Given the description of an element on the screen output the (x, y) to click on. 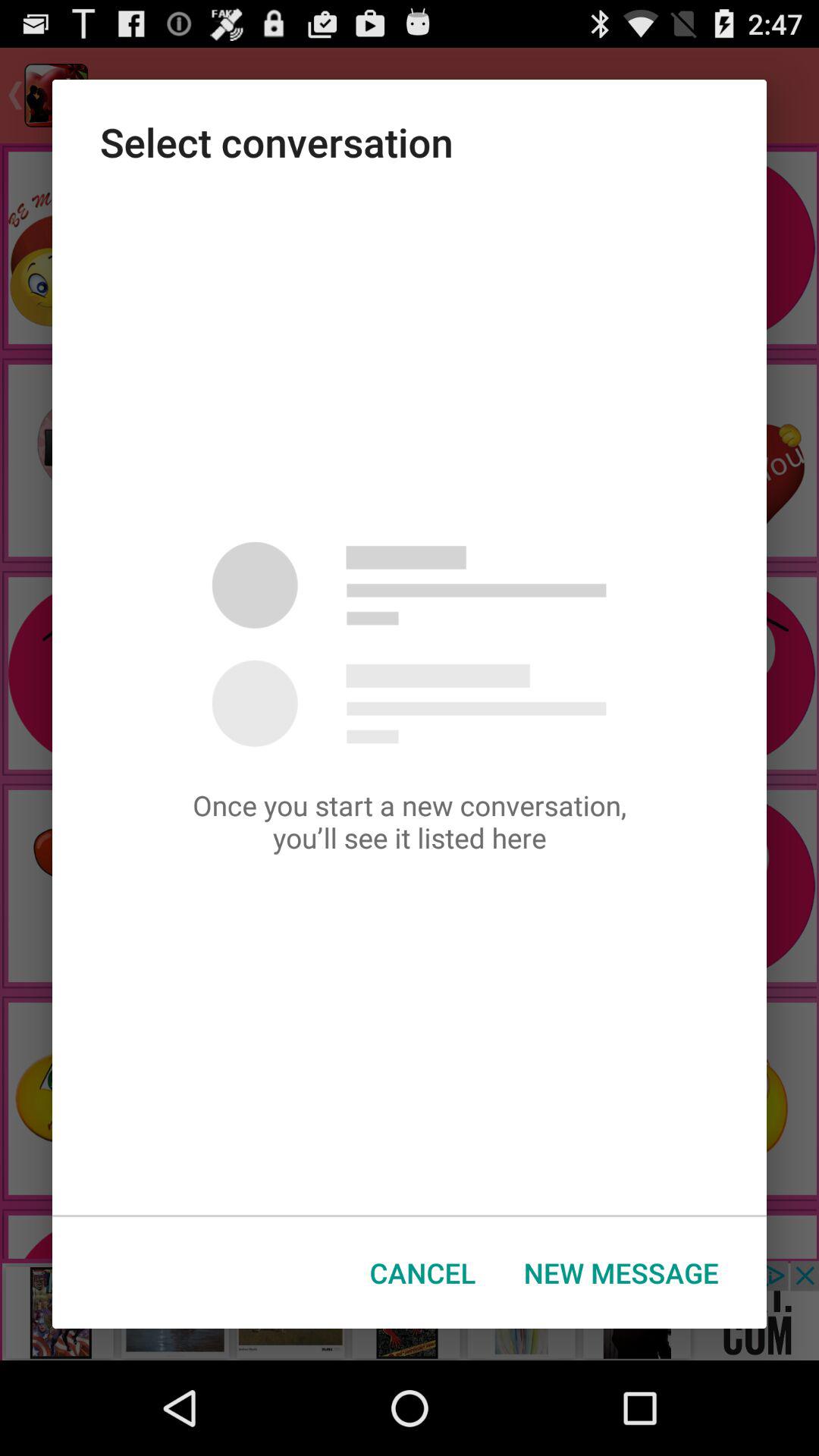
turn off the cancel (422, 1272)
